Given the description of an element on the screen output the (x, y) to click on. 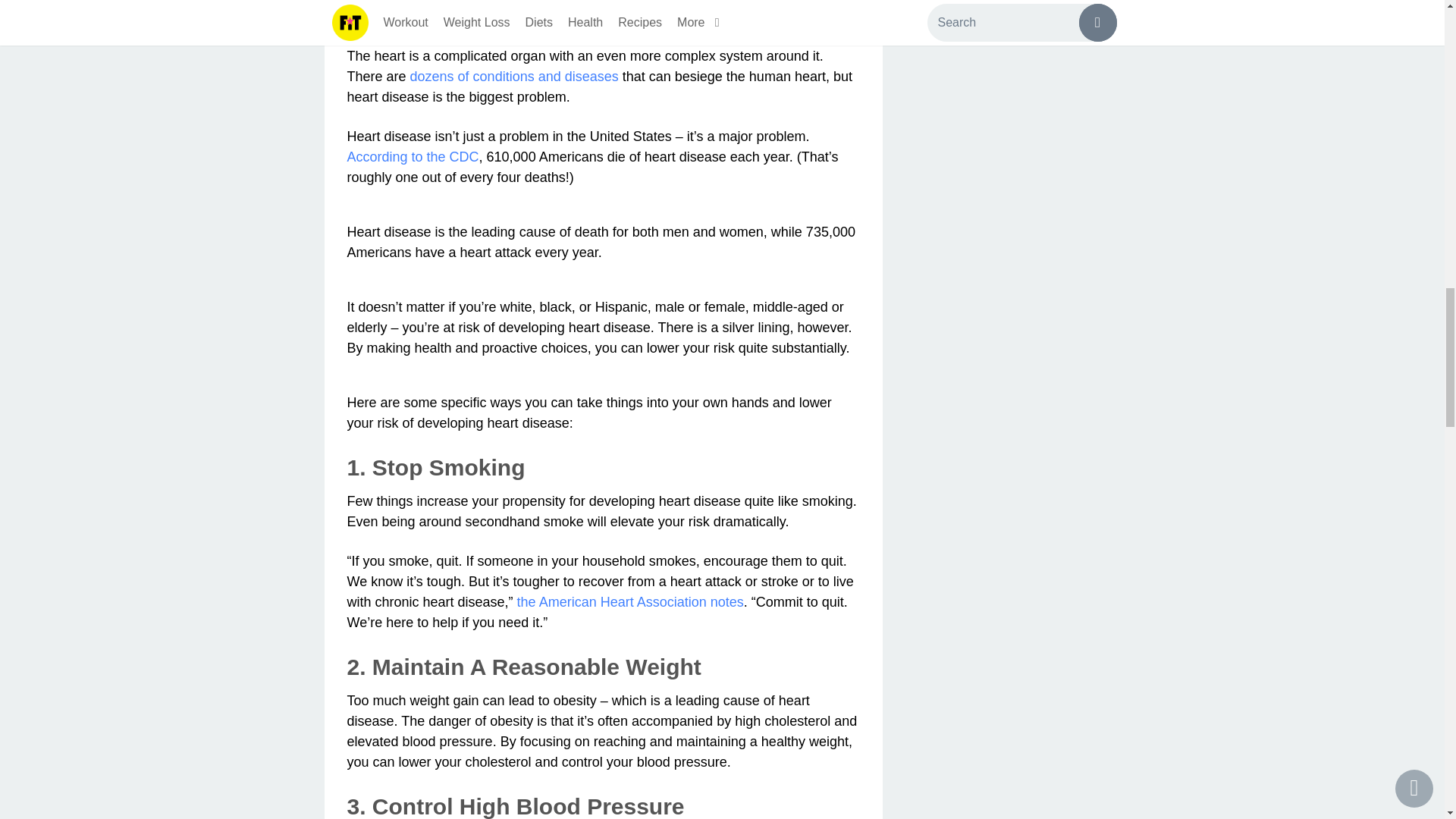
According to the CDC (413, 156)
dozens of conditions and diseases (514, 76)
the American Heart Association notes (630, 601)
